Given the description of an element on the screen output the (x, y) to click on. 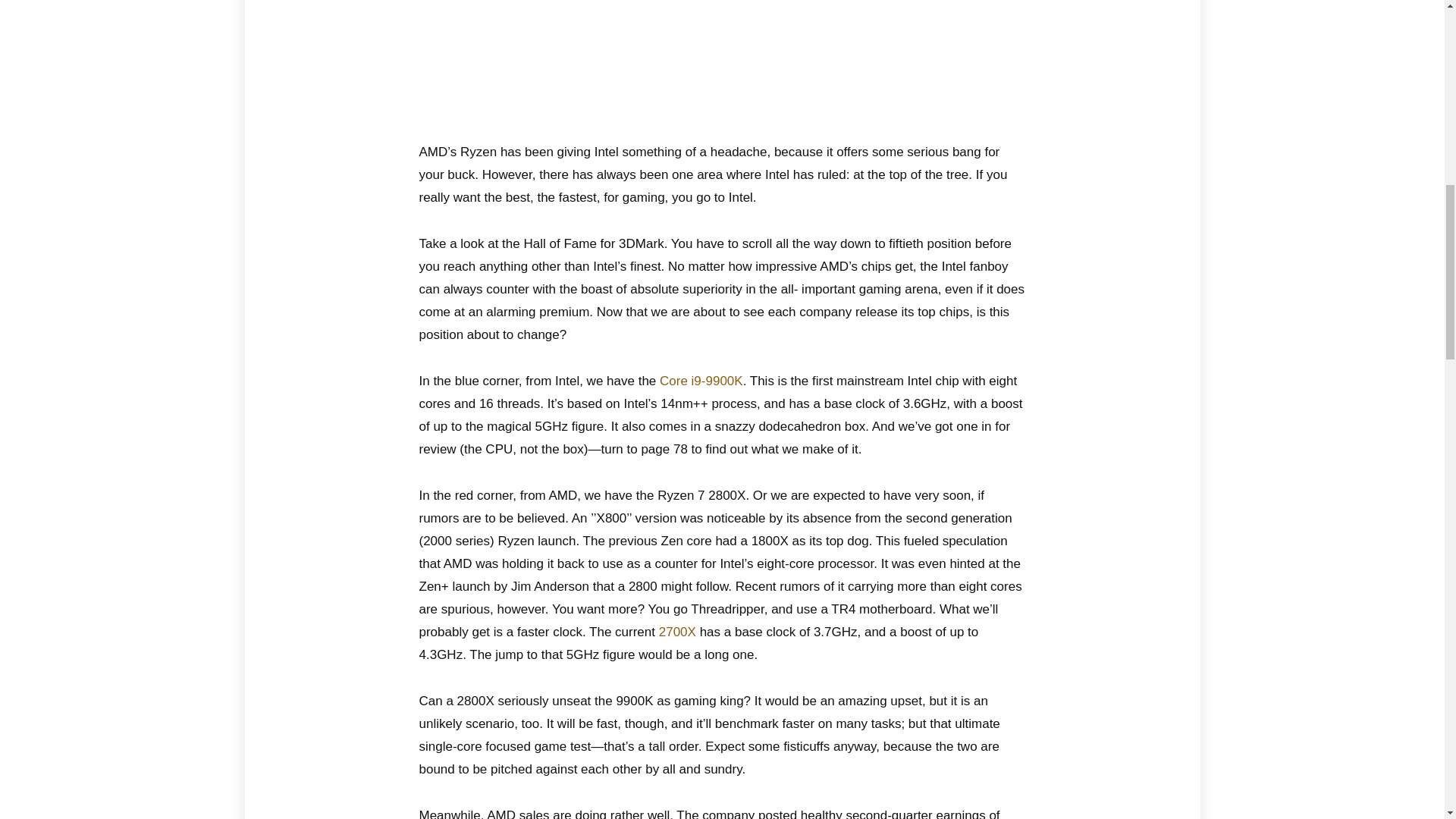
Core i9-9900K (700, 380)
2700X (677, 631)
